Given the description of an element on the screen output the (x, y) to click on. 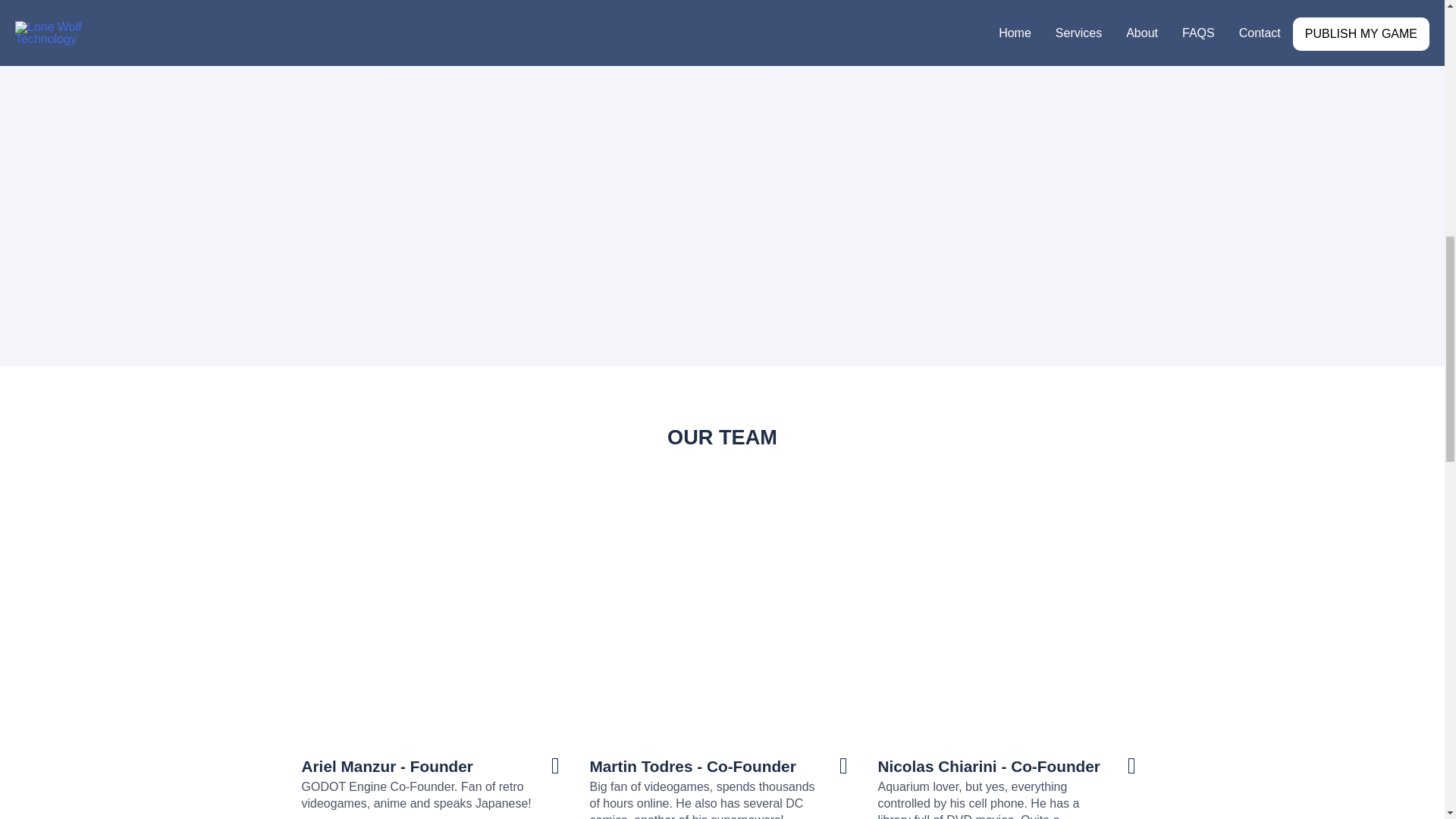
Ariel Manzur - Founder (387, 765)
Nicolas Chiarini - Co-Founder (988, 765)
Martin Todres - Co-Founder (691, 765)
